Given the description of an element on the screen output the (x, y) to click on. 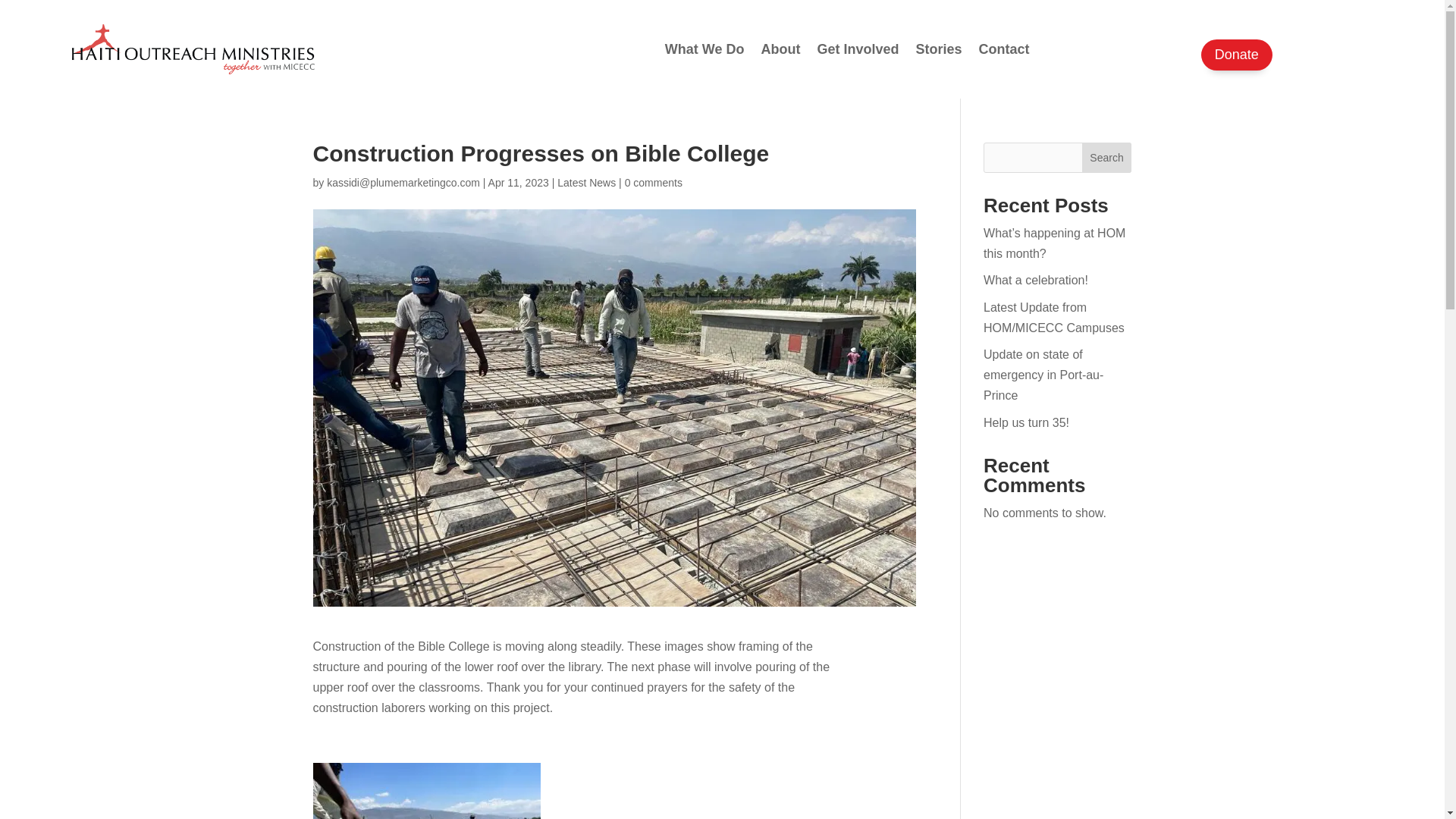
0 comments (653, 182)
Update on state of emergency in Port-au-Prince (1043, 375)
What a celebration! (1035, 279)
Get Involved (857, 48)
Help us turn 35! (1026, 421)
Donate (1236, 54)
Latest News (586, 182)
What We Do (704, 48)
Search (1106, 157)
